Given the description of an element on the screen output the (x, y) to click on. 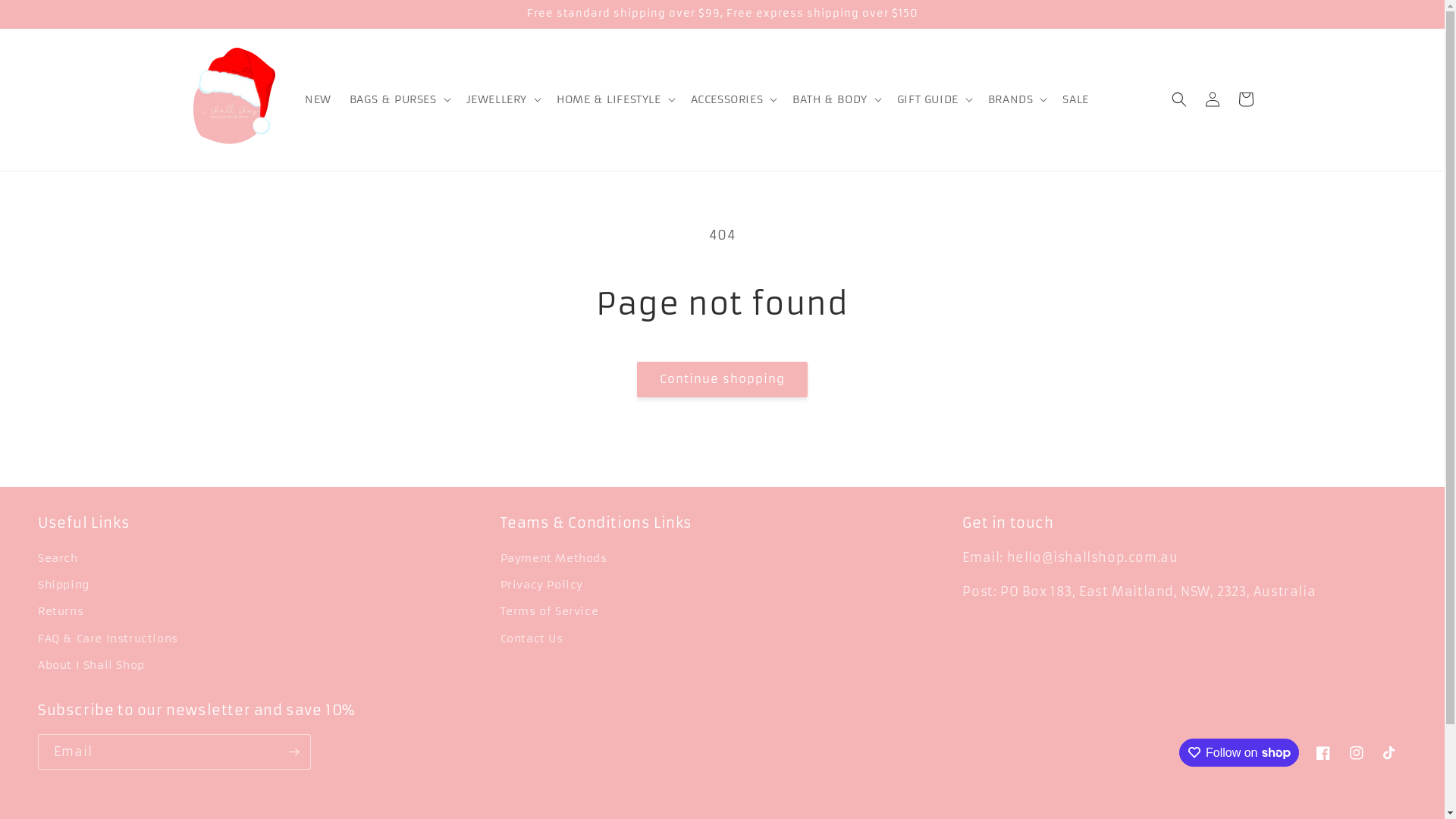
Terms of Service Element type: text (549, 611)
NEW Element type: text (317, 99)
Payment Methods Element type: text (553, 560)
Shipping Element type: text (63, 584)
FAQ & Care Instructions Element type: text (107, 638)
Log in Element type: text (1211, 99)
SALE Element type: text (1075, 99)
Contact Us Element type: text (531, 638)
Returns Element type: text (60, 611)
Instagram Element type: text (1356, 752)
Privacy Policy Element type: text (541, 584)
Search Element type: text (57, 560)
Cart Element type: text (1244, 99)
Facebook Element type: text (1322, 752)
Continue shopping Element type: text (722, 379)
About I Shall Shop Element type: text (90, 665)
TikTok Element type: text (1389, 752)
